Given the description of an element on the screen output the (x, y) to click on. 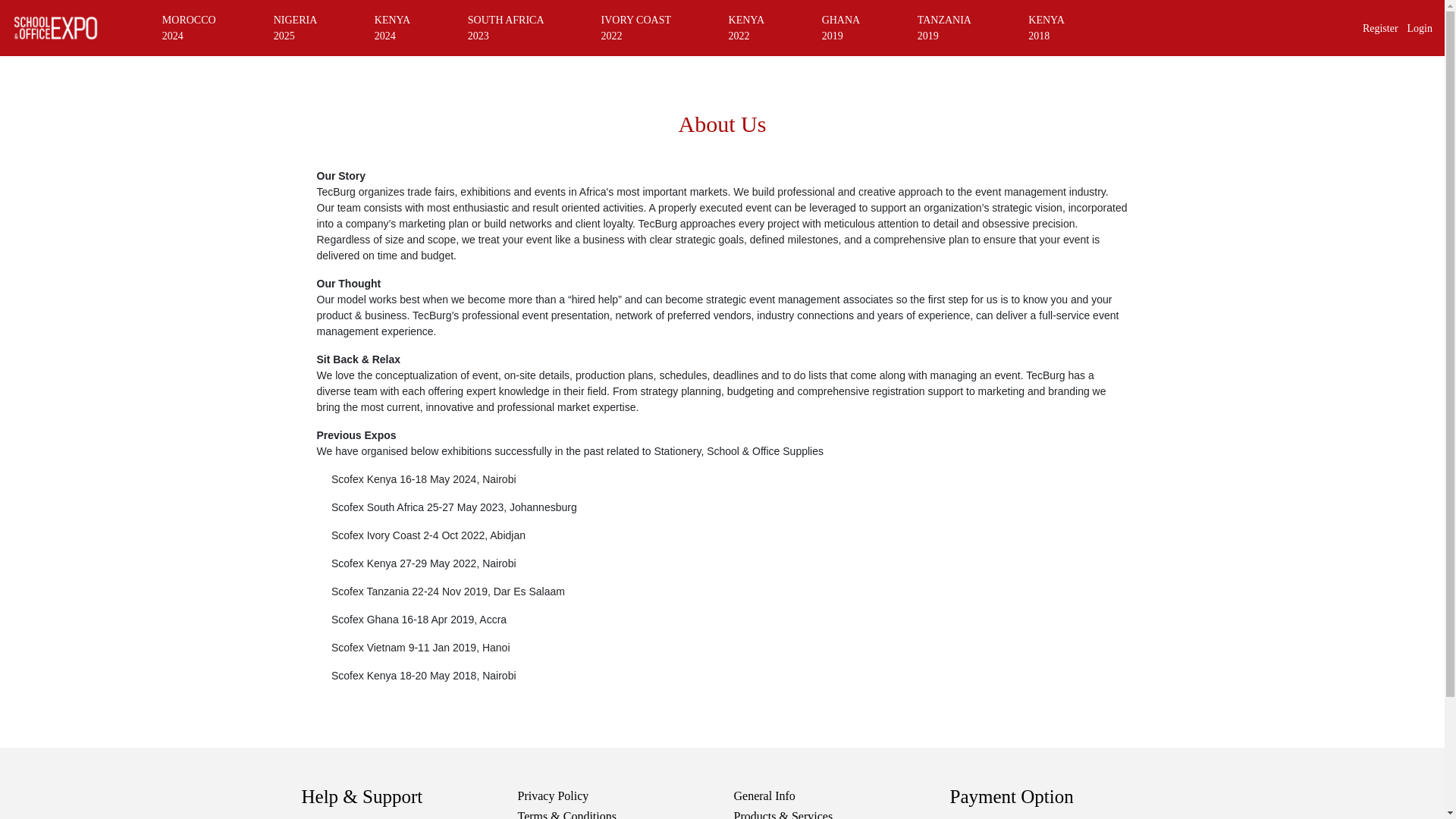
Privacy Policy (552, 795)
NIGERIA 2025 (306, 27)
KENYA 2018 (1057, 27)
Register (1379, 28)
IVORY COAST 2022 (647, 27)
KENYA 2024 (403, 27)
General Info (763, 795)
KENYA 2022 (757, 27)
Login (1419, 28)
SOUTH AFRICA 2023 (516, 27)
